Given the description of an element on the screen output the (x, y) to click on. 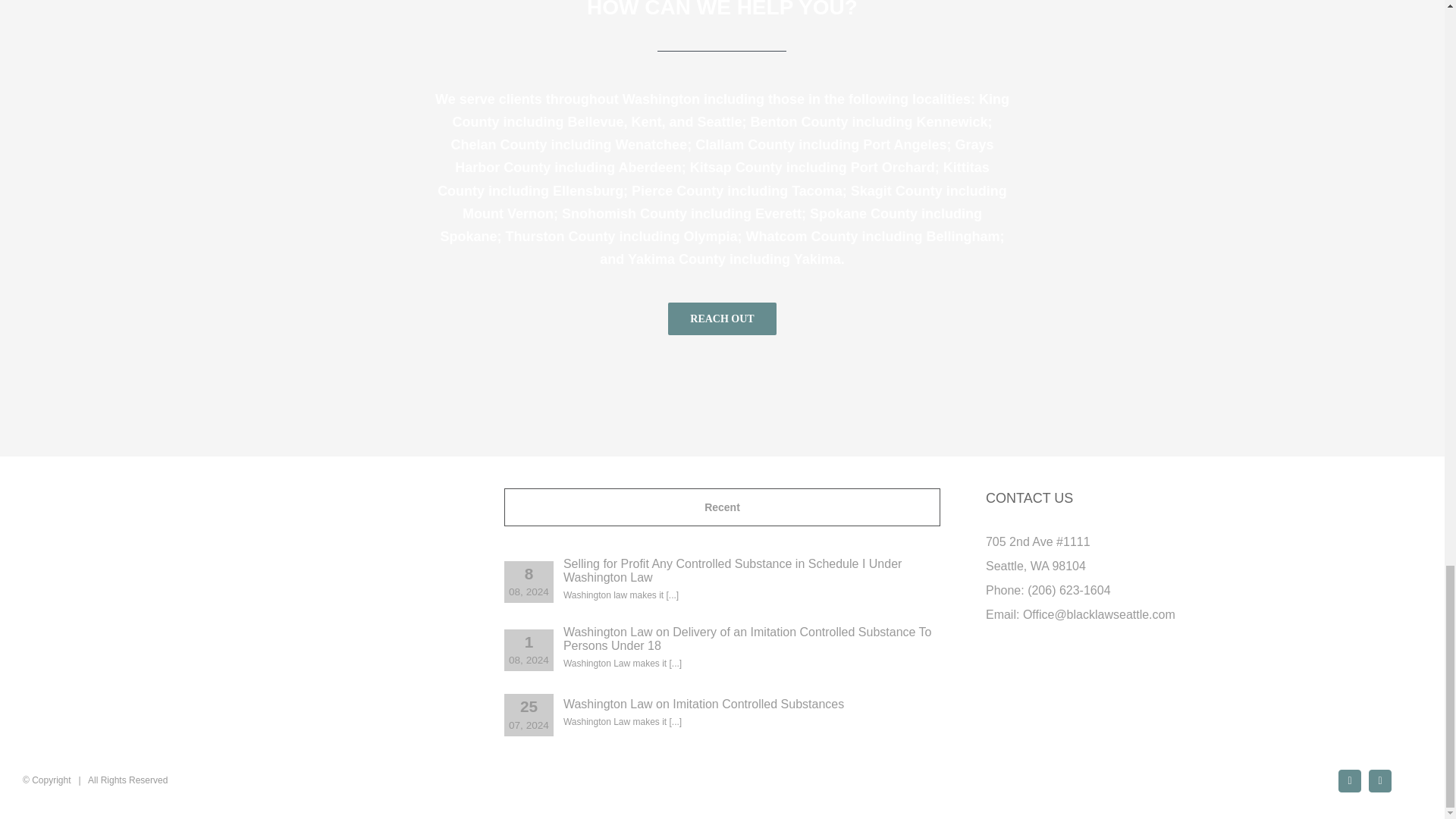
LinkedIn (1379, 780)
Facebook (1349, 780)
Google (1410, 772)
